Given the description of an element on the screen output the (x, y) to click on. 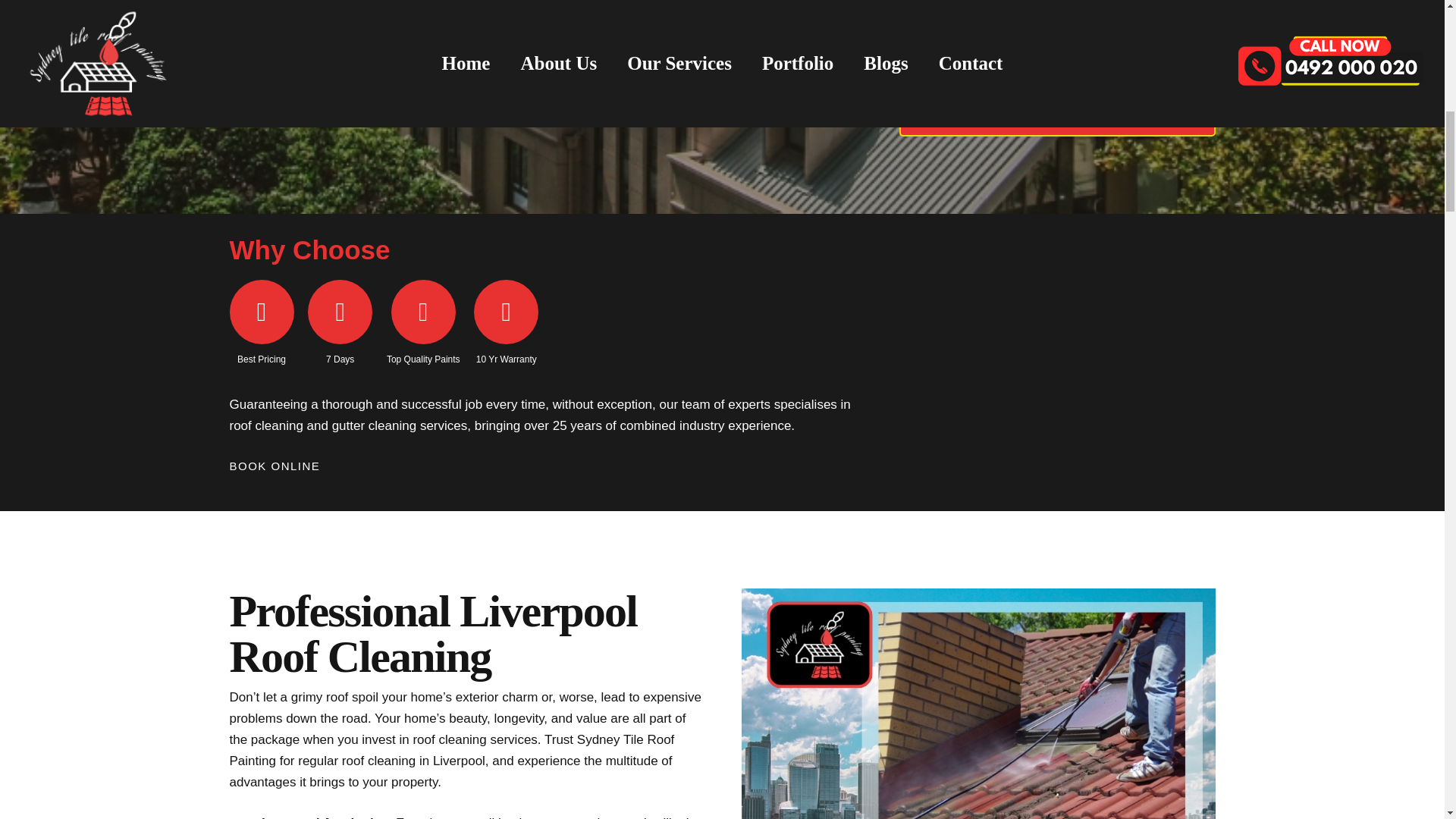
Submit (1057, 88)
BOOK ONLINE (274, 466)
